Given the description of an element on the screen output the (x, y) to click on. 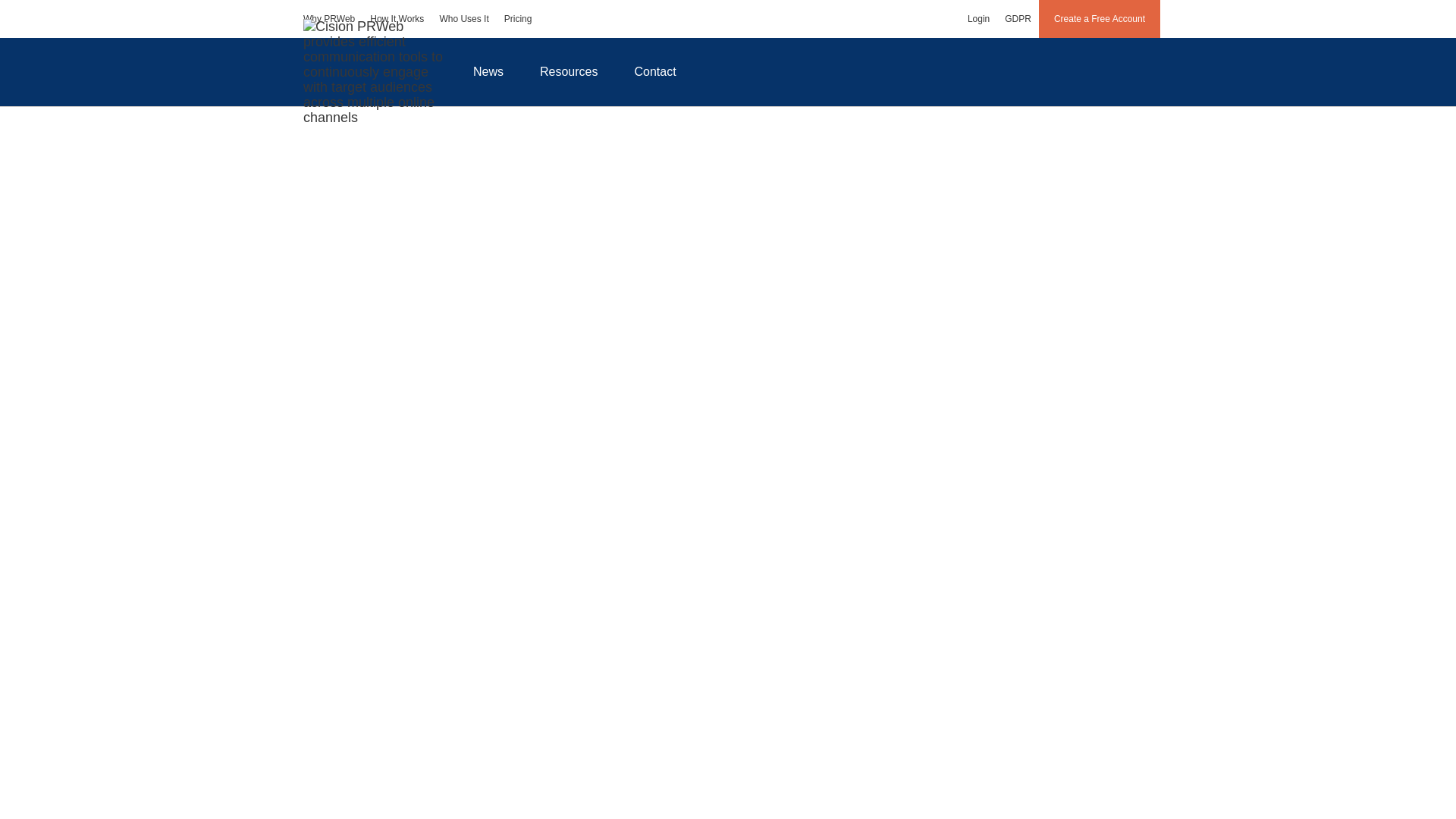
Create a Free Account (1099, 18)
Resources (568, 71)
News (487, 71)
Why PRWeb (328, 18)
Login (978, 18)
GDPR (1018, 18)
How It Works (396, 18)
Pricing (518, 18)
Contact (654, 71)
Who Uses It (463, 18)
